Given the description of an element on the screen output the (x, y) to click on. 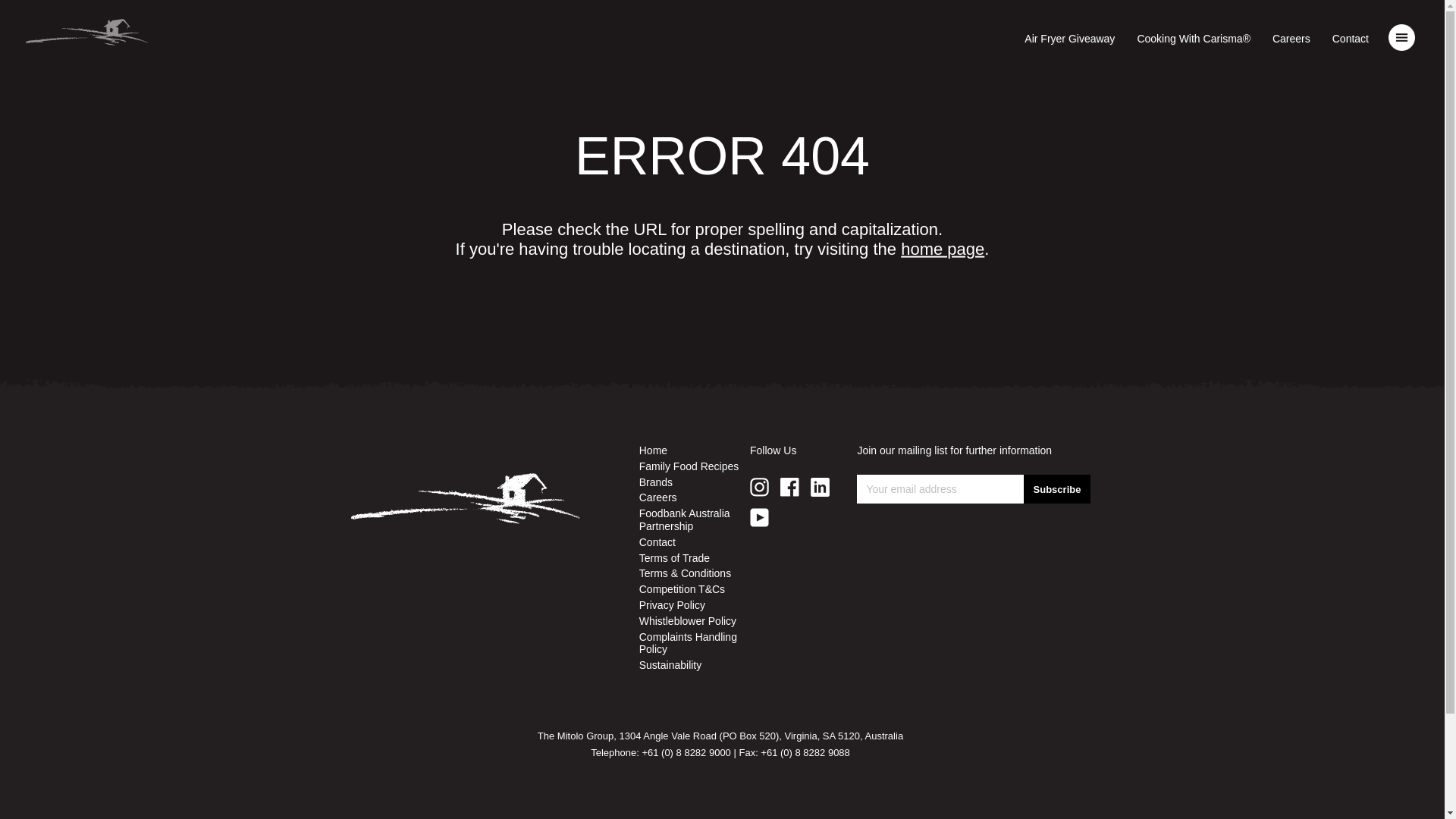
Terms of Trade Element type: text (694, 558)
Home Element type: text (694, 450)
+61 (0) 8 8282 9000 Element type: text (685, 752)
Complaints Handling Policy Element type: text (694, 643)
Privacy Policy Element type: text (694, 605)
Foodbank Australia Partnership Element type: text (694, 520)
Competition T&Cs Element type: text (694, 589)
Whistleblower Policy Element type: text (694, 621)
Sustainability Element type: text (694, 664)
Brands Element type: text (694, 482)
Contact Element type: text (694, 542)
Careers Element type: text (1291, 38)
Careers Element type: text (694, 497)
Terms & Conditions Element type: text (694, 573)
Mitolo Family Farms Element type: text (86, 35)
+61 (0) 8 8282 9088 Element type: text (804, 752)
Subscribe Element type: text (1056, 488)
Contact Element type: text (1350, 38)
Family Food Recipes Element type: text (694, 466)
home page Element type: text (942, 248)
Air Fryer Giveaway Element type: text (1069, 38)
